Given the description of an element on the screen output the (x, y) to click on. 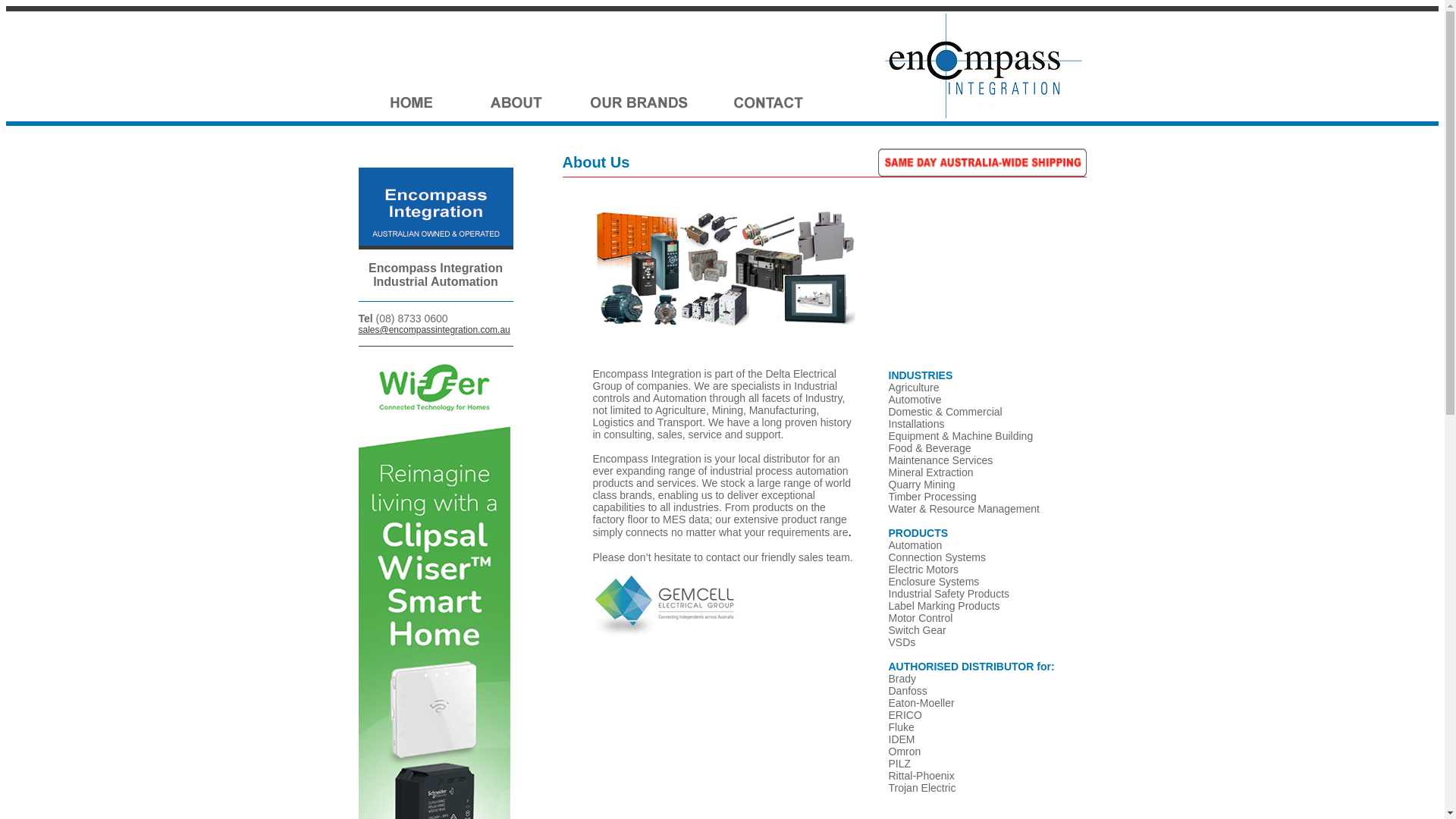
sales@encompassintegration.com.au Element type: text (433, 329)
